Given the description of an element on the screen output the (x, y) to click on. 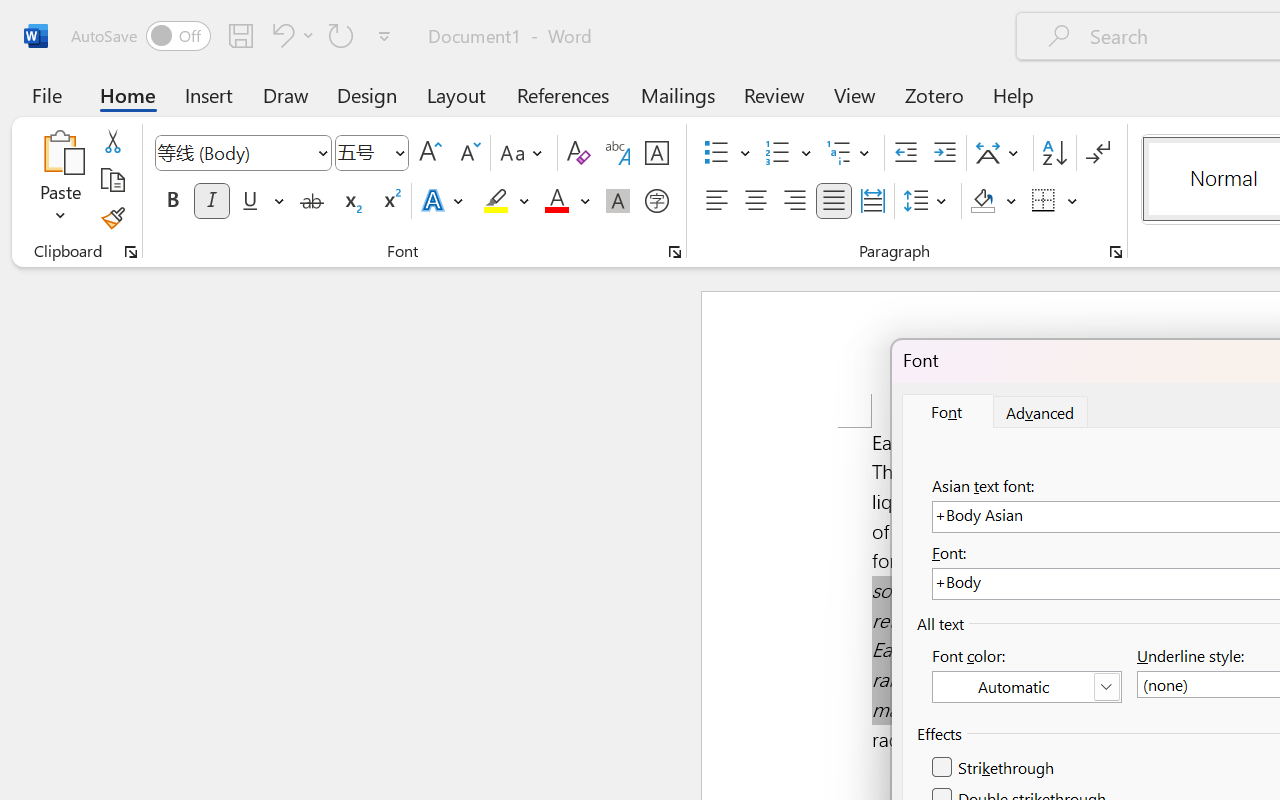
Show/Hide Editing Marks (1098, 153)
Strikethrough (994, 767)
Multilevel List (850, 153)
